Given the description of an element on the screen output the (x, y) to click on. 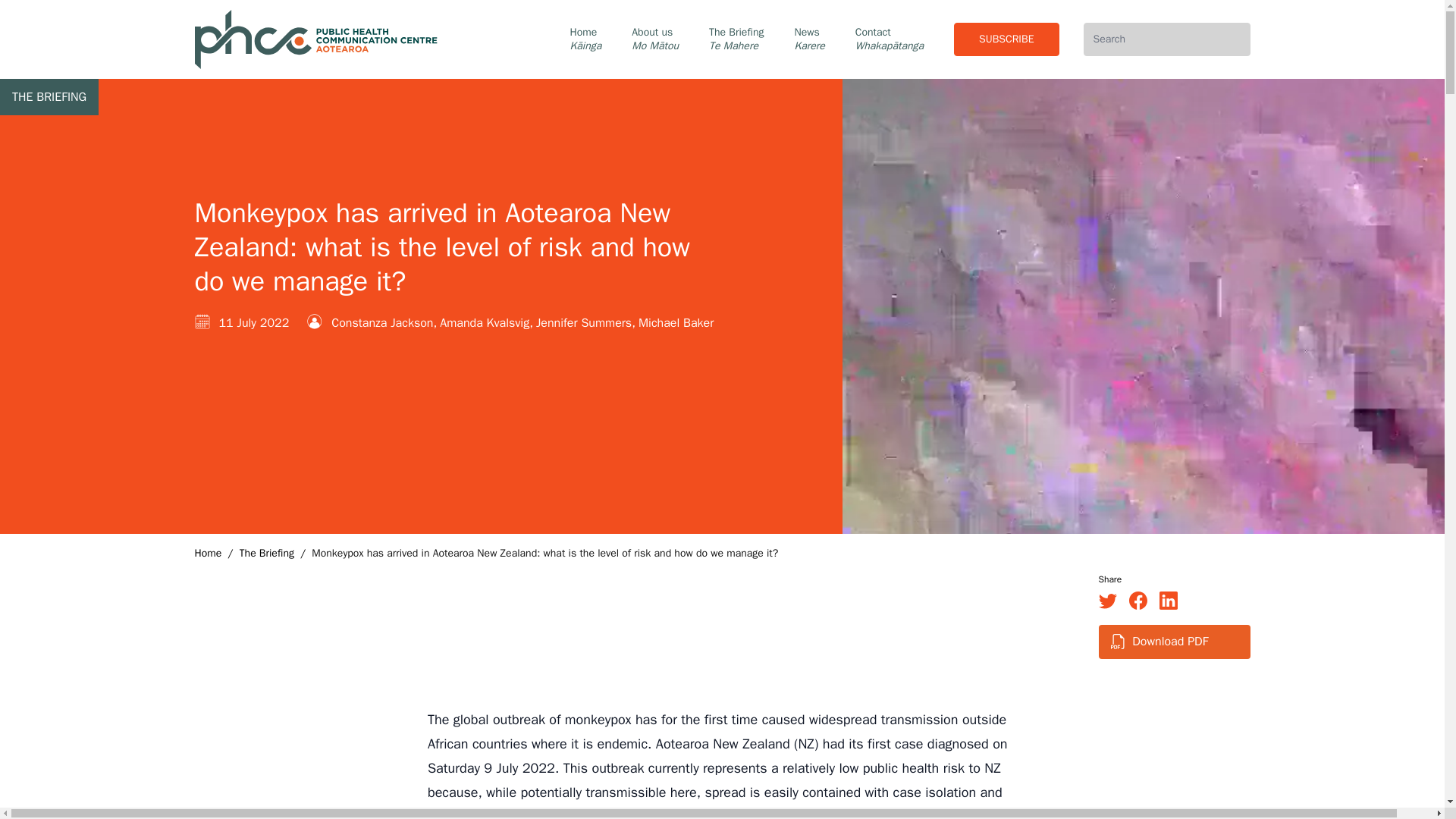
Share on Facebook (1137, 600)
Home (207, 553)
The Briefing (267, 553)
Download PDF (1170, 641)
Share on Twitter (1106, 600)
THE BRIEFING (49, 96)
SUBSCRIBE (1005, 39)
Share on LinkedIn (1167, 600)
PHCC (317, 39)
